Given the description of an element on the screen output the (x, y) to click on. 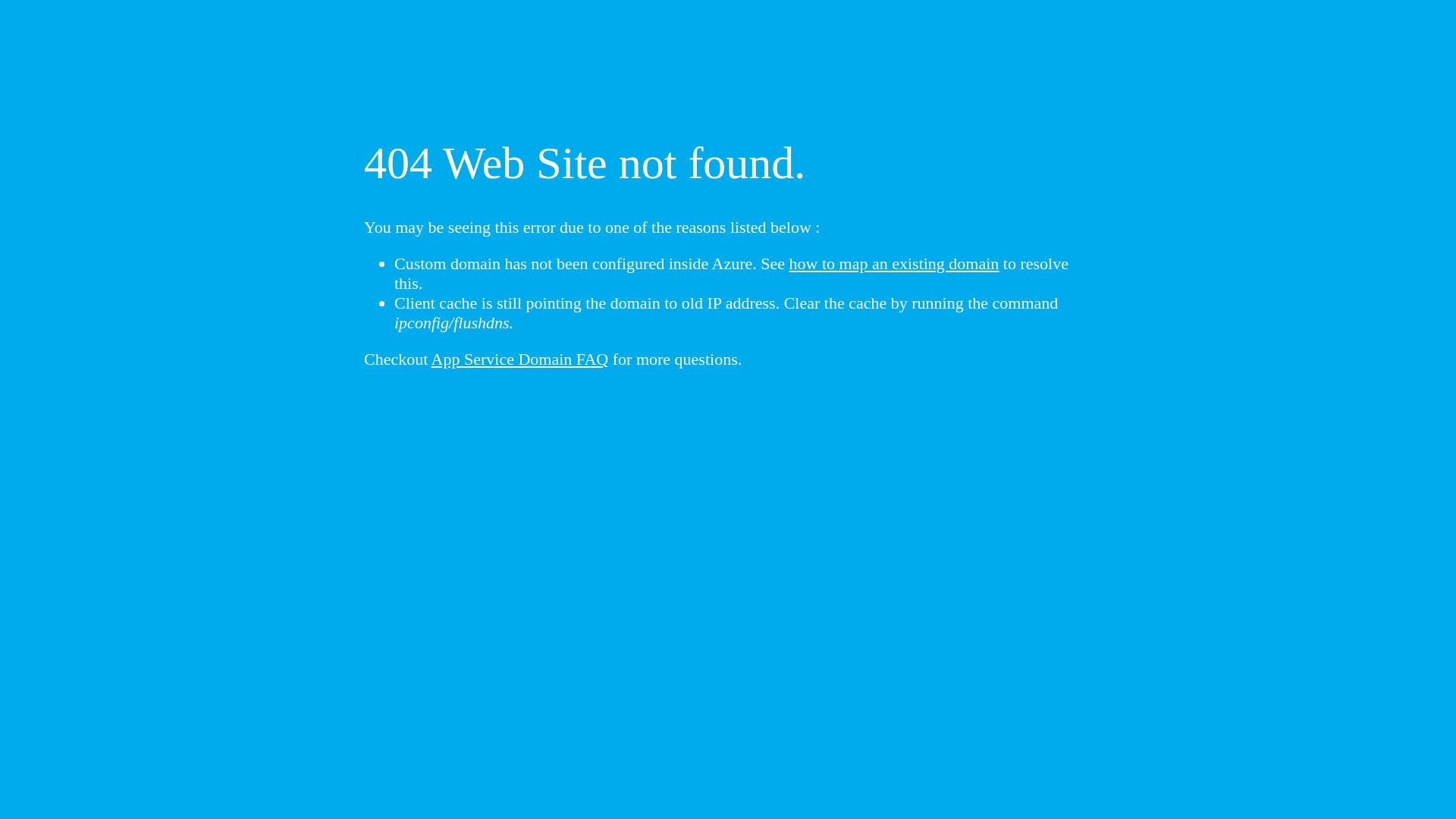
how to map an existing domain Element type: text (894, 263)
App Service Domain FAQ Element type: text (519, 358)
